Given the description of an element on the screen output the (x, y) to click on. 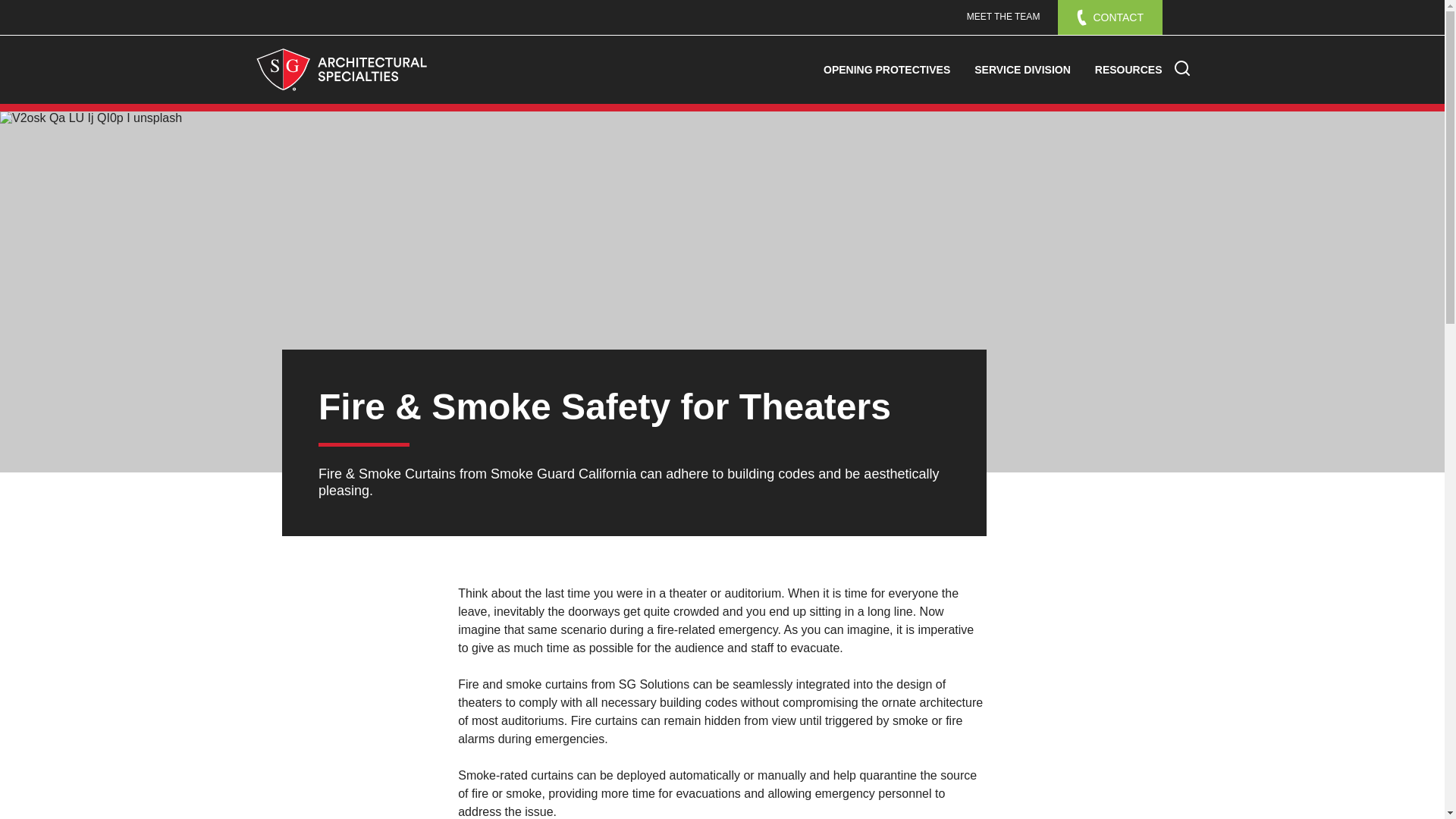
MEET THE TEAM (1003, 17)
OPENING PROTECTIVES (886, 69)
CONTACT (1109, 17)
SERVICE DIVISION (1022, 69)
RESOURCES (1128, 69)
